Given the description of an element on the screen output the (x, y) to click on. 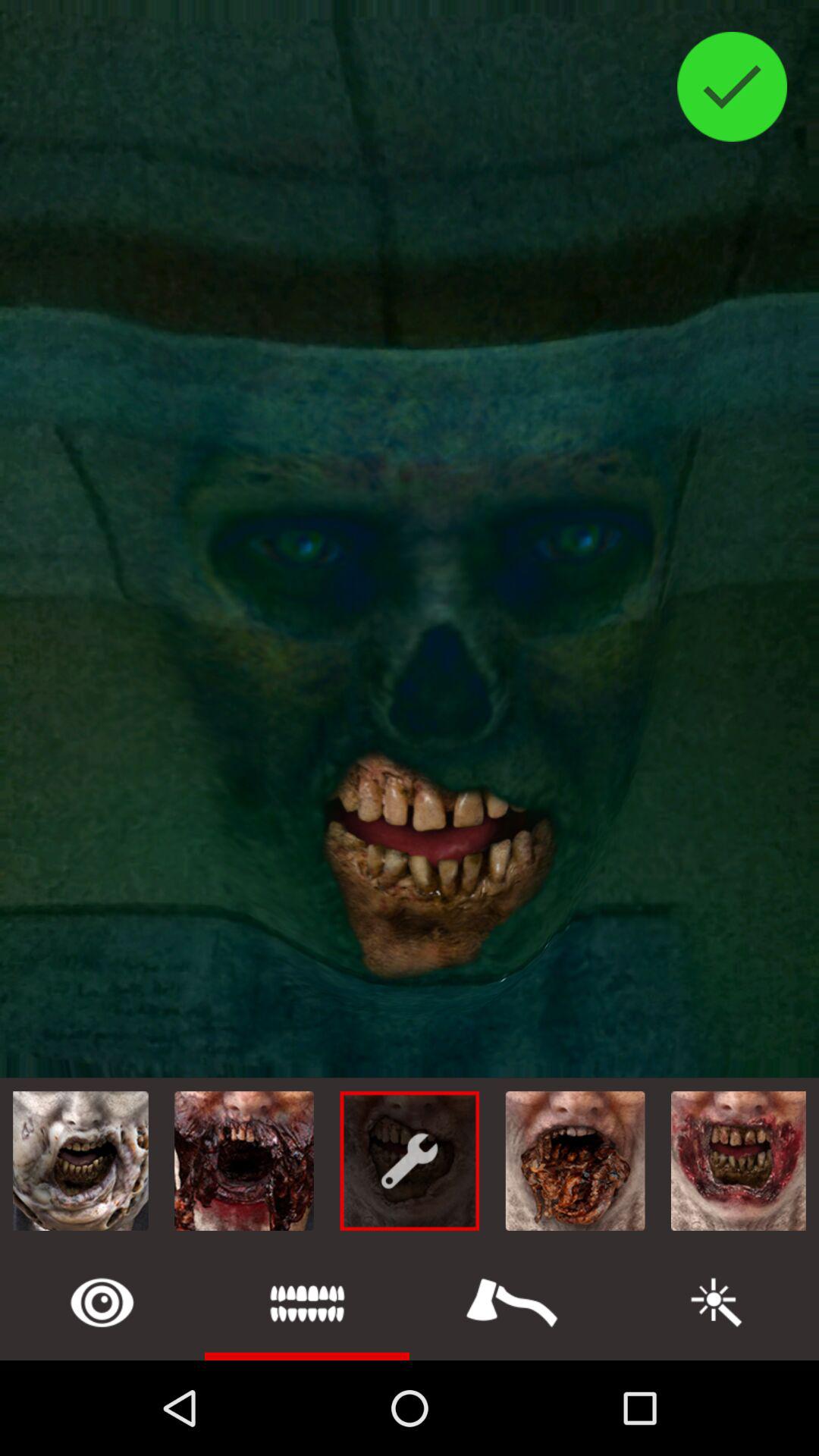
select teeth (306, 1302)
